Given the description of an element on the screen output the (x, y) to click on. 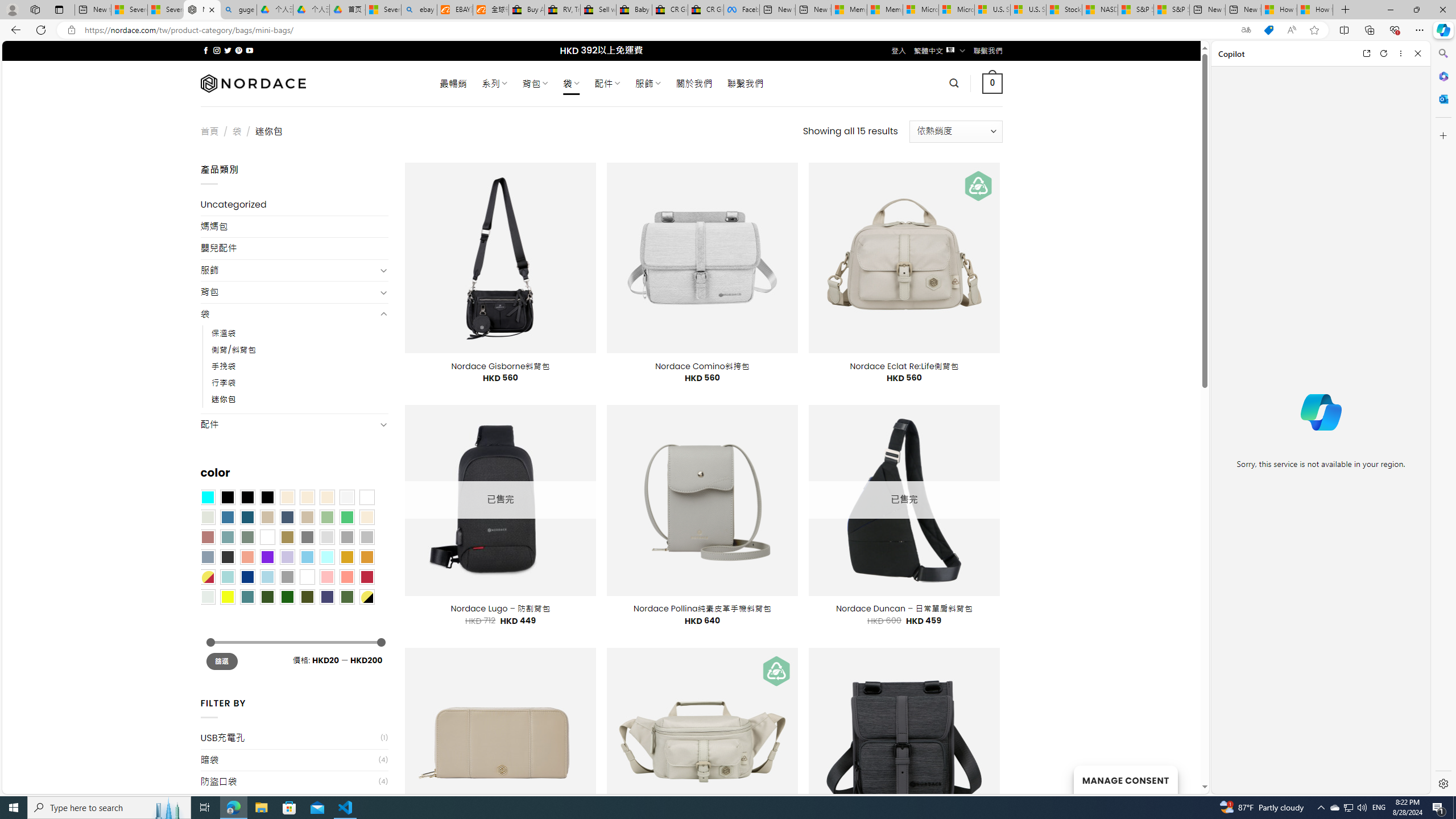
Cream (327, 497)
Sell worldwide with eBay (598, 9)
